Given the description of an element on the screen output the (x, y) to click on. 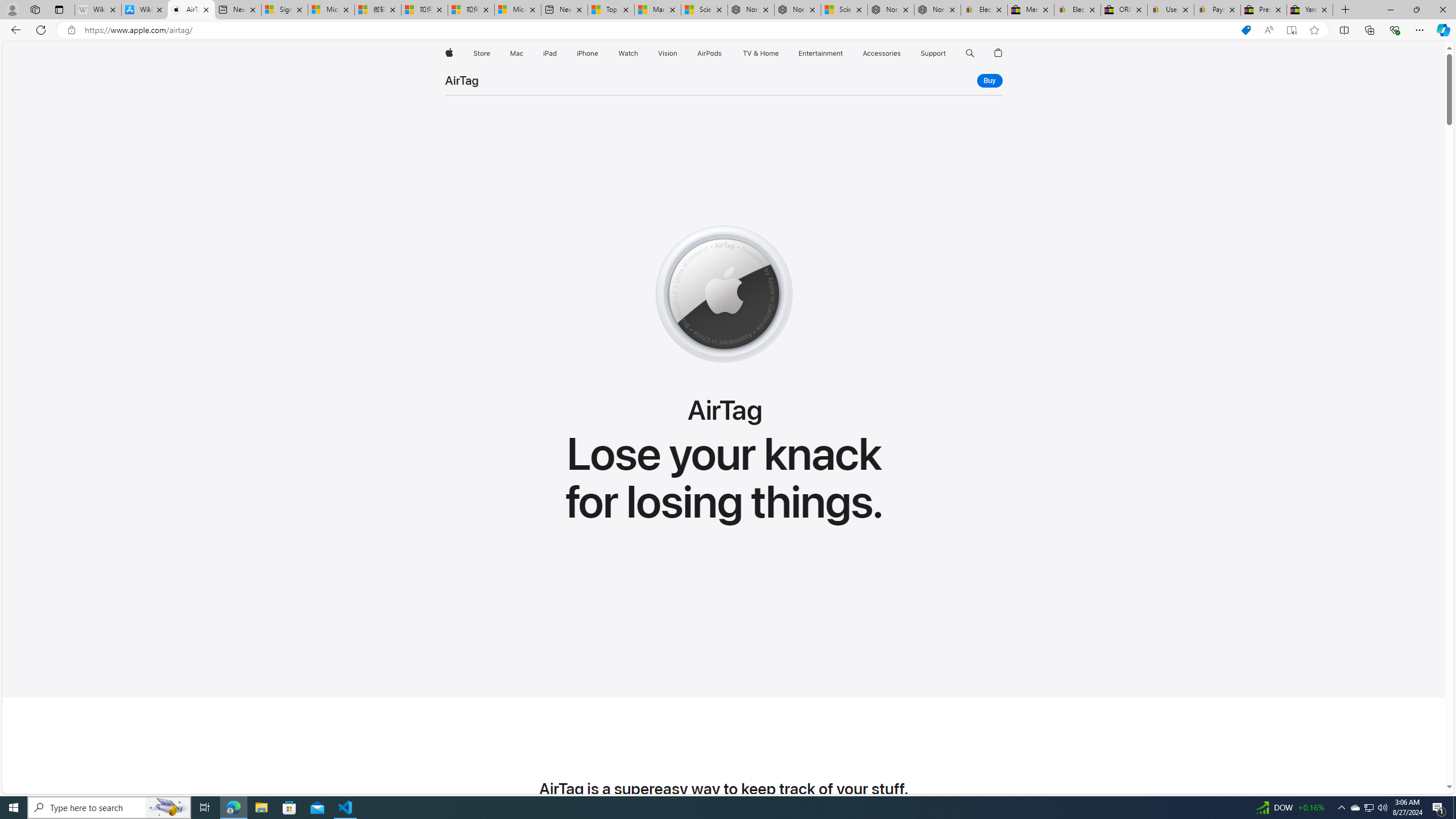
Class: globalnav-item globalnav-search shift-0-1 (969, 53)
User Privacy Notice | eBay (1170, 9)
Store (481, 53)
Watch (627, 53)
Shopping in Microsoft Edge (1245, 29)
Enter Immersive Reader (F9) (1291, 29)
Vision menu (678, 53)
Store menu (492, 53)
